Given the description of an element on the screen output the (x, y) to click on. 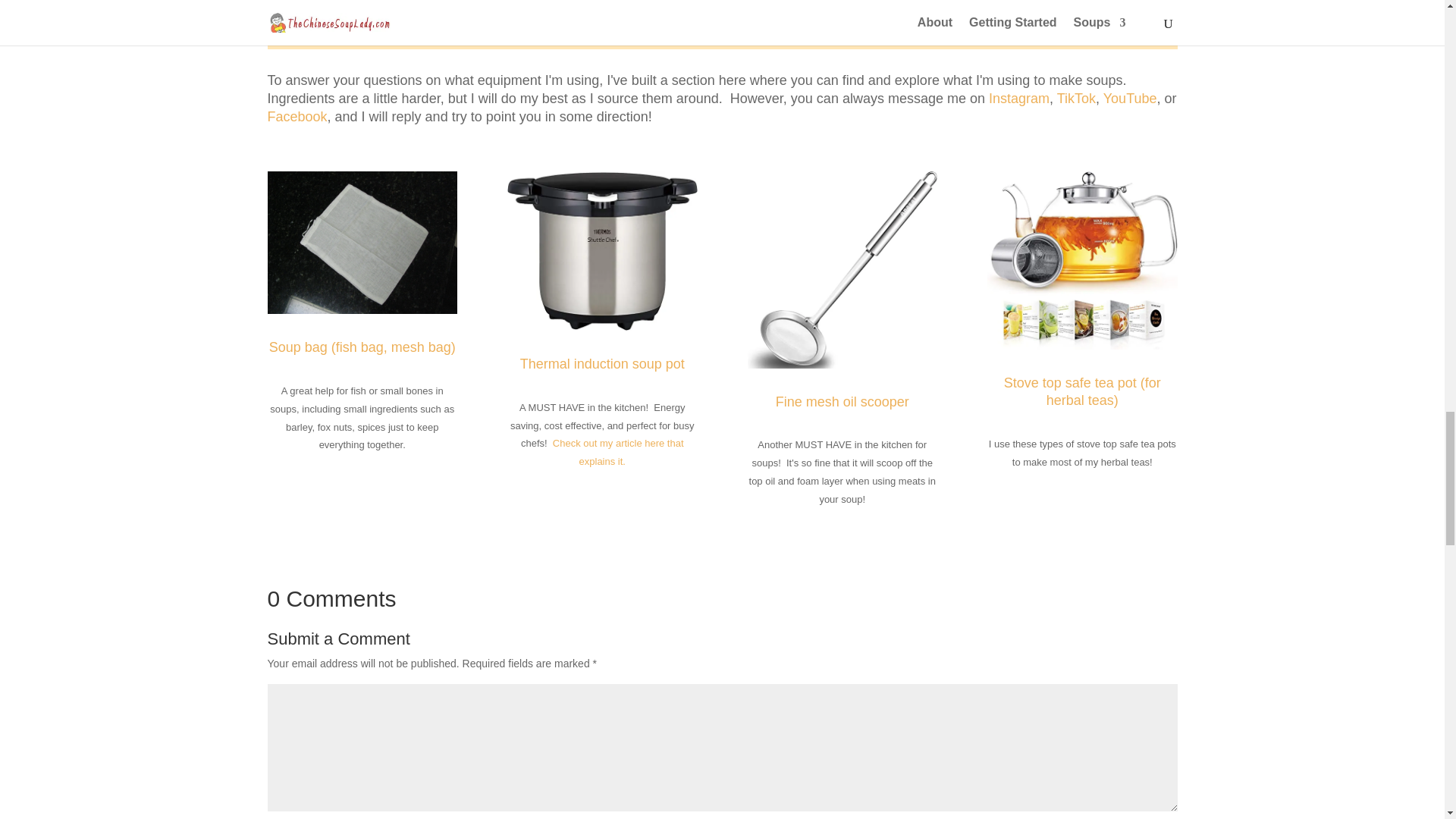
Instagram (1018, 98)
